Given the description of an element on the screen output the (x, y) to click on. 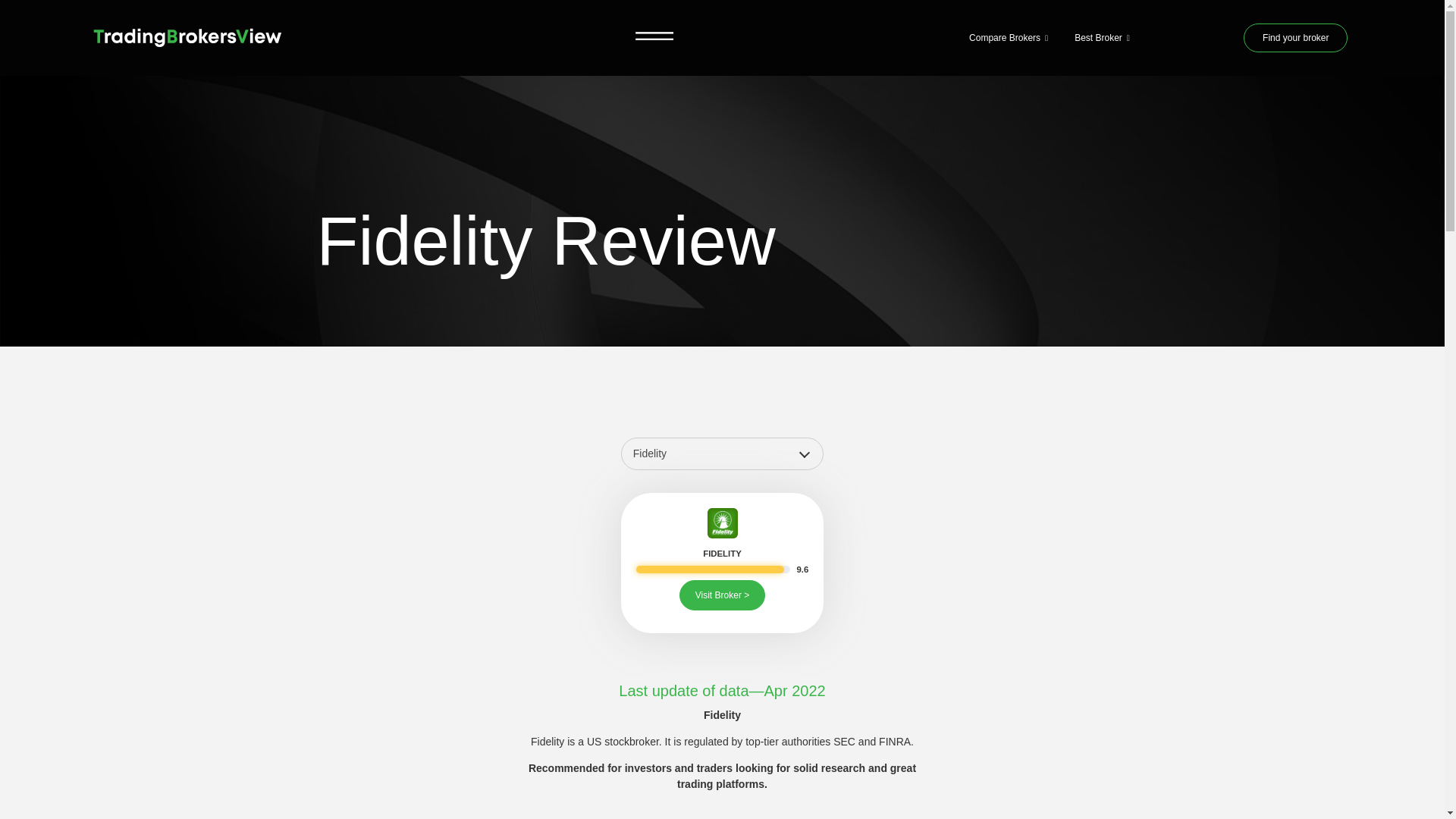
Middle Menu (655, 37)
